Given the description of an element on the screen output the (x, y) to click on. 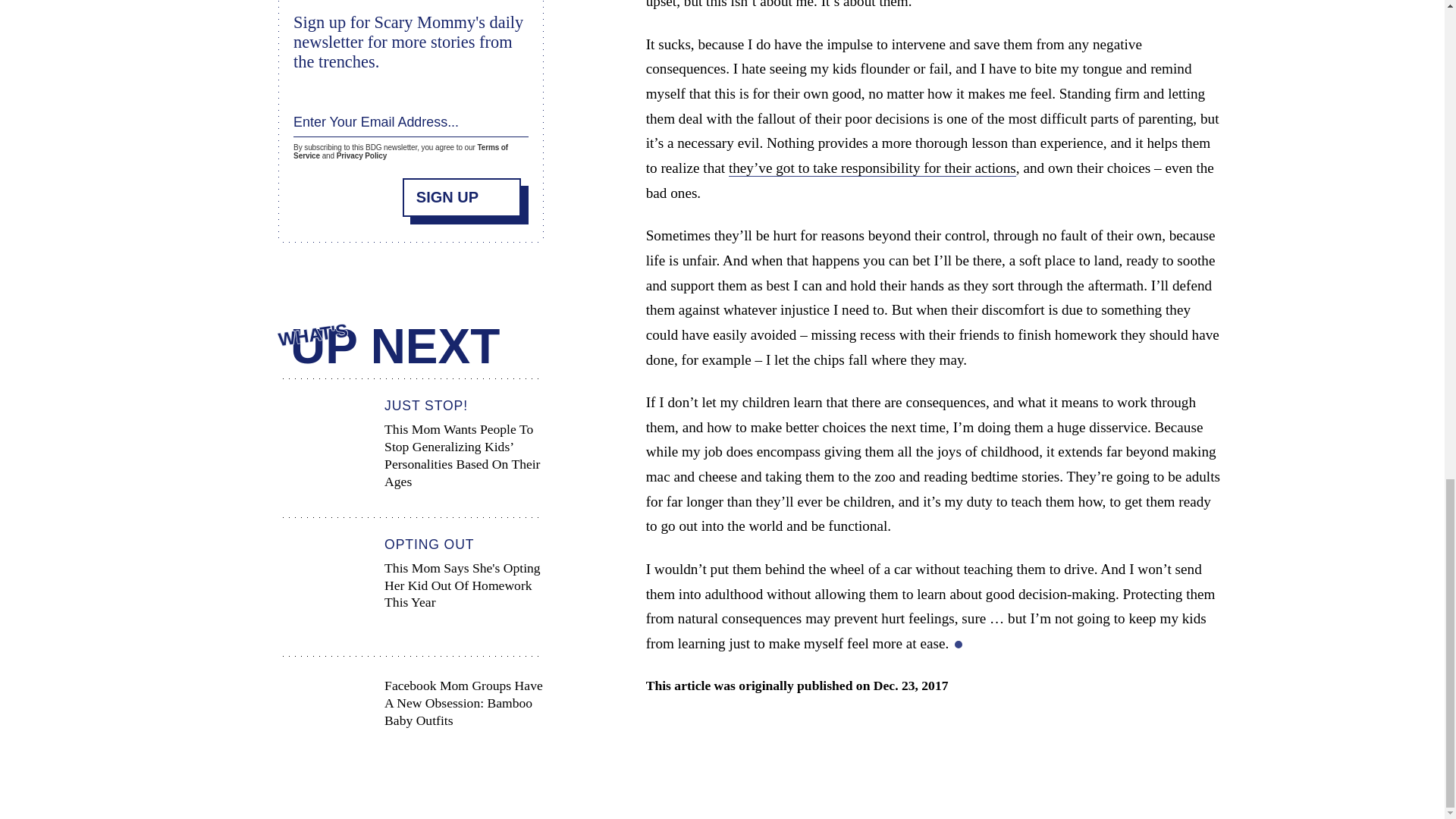
SIGN UP (462, 196)
Privacy Policy (361, 155)
Terms of Service (401, 151)
